Given the description of an element on the screen output the (x, y) to click on. 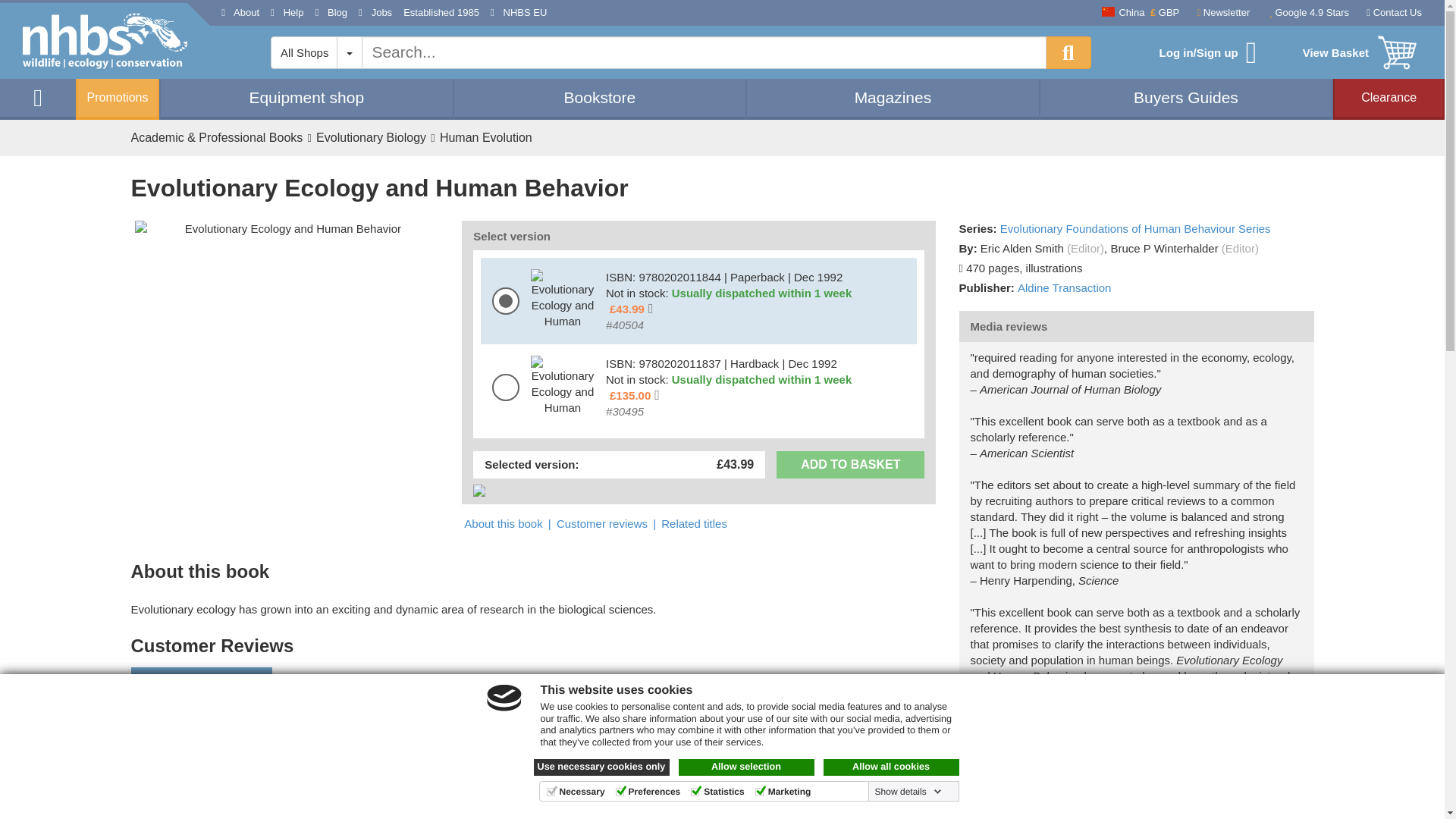
Show details (908, 791)
Allow all cookies (891, 767)
Allow selection (745, 767)
Use necessary cookies only (601, 767)
